Given the description of an element on the screen output the (x, y) to click on. 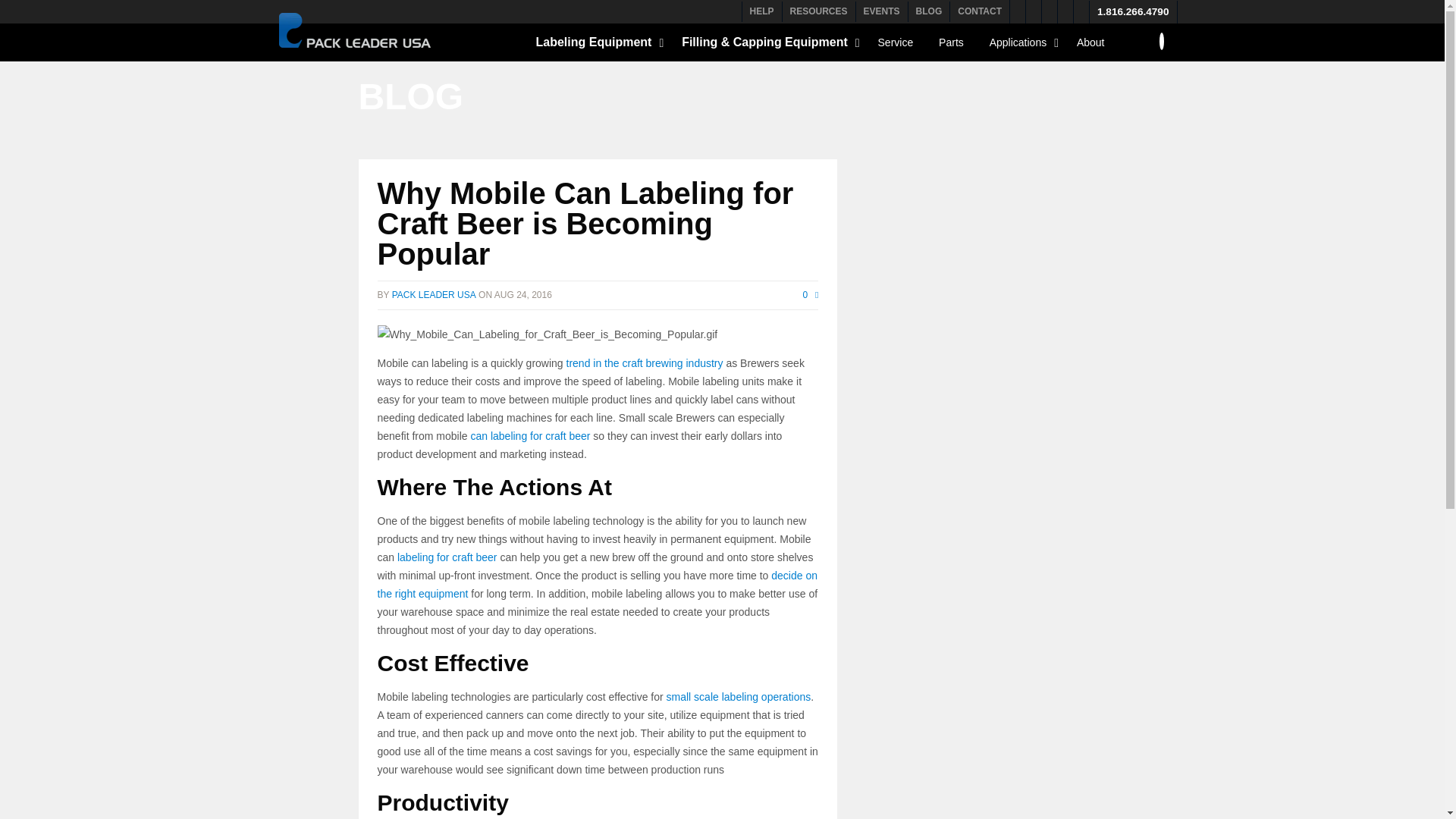
EVENTS (881, 9)
HELP (760, 9)
About (1091, 46)
BLOG (929, 9)
Applications (1020, 46)
1.816.266.4790 (1133, 11)
Service (895, 46)
RESOURCES (819, 9)
CONTACT (979, 9)
Labeling Equipment (595, 46)
